Given the description of an element on the screen output the (x, y) to click on. 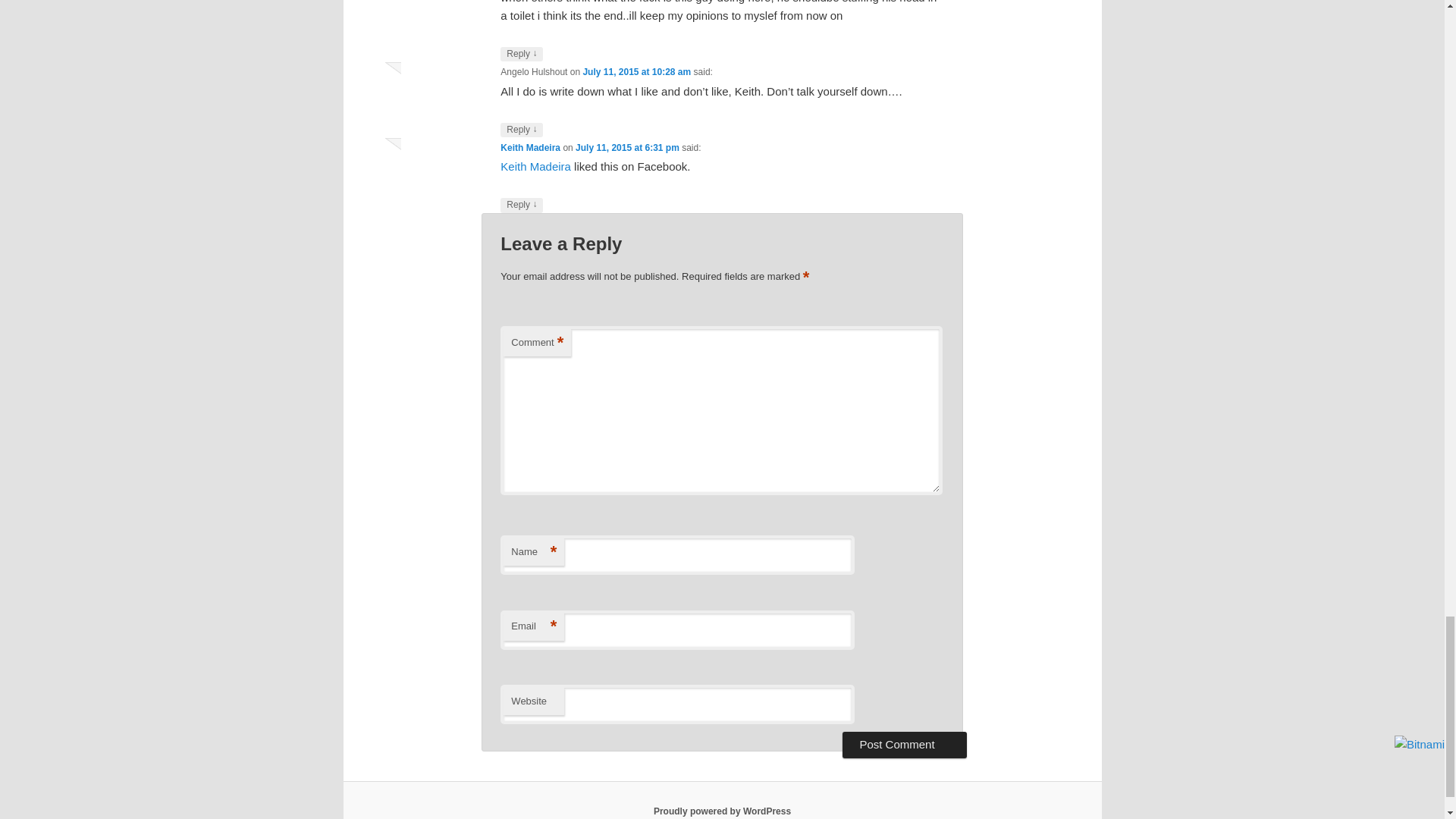
July 11, 2015 at 10:28 am (636, 71)
Post Comment (904, 744)
Semantic Personal Publishing Platform (721, 810)
July 11, 2015 at 6:31 pm (627, 147)
Keith Madeira (530, 147)
